Given the description of an element on the screen output the (x, y) to click on. 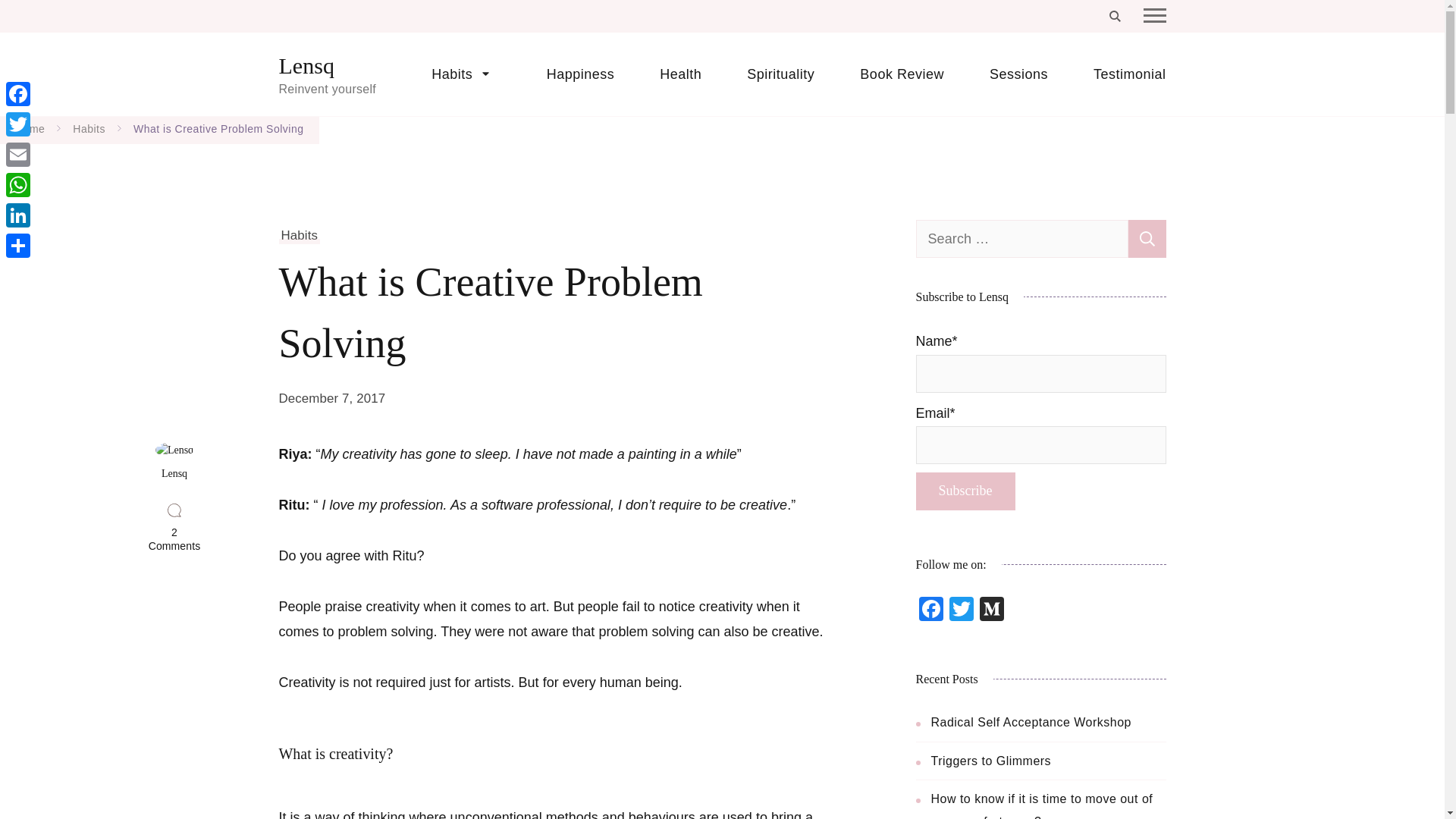
Testimonial (1118, 74)
Facebook (930, 610)
Search (1147, 238)
Health (680, 74)
Twitter (961, 610)
Habits (88, 128)
Search (1147, 238)
Email (17, 154)
Twitter (17, 123)
Habits (465, 74)
December 7, 2017 (332, 398)
Sessions (1018, 74)
Lensq (306, 66)
Habits (299, 235)
Spirituality (780, 74)
